Given the description of an element on the screen output the (x, y) to click on. 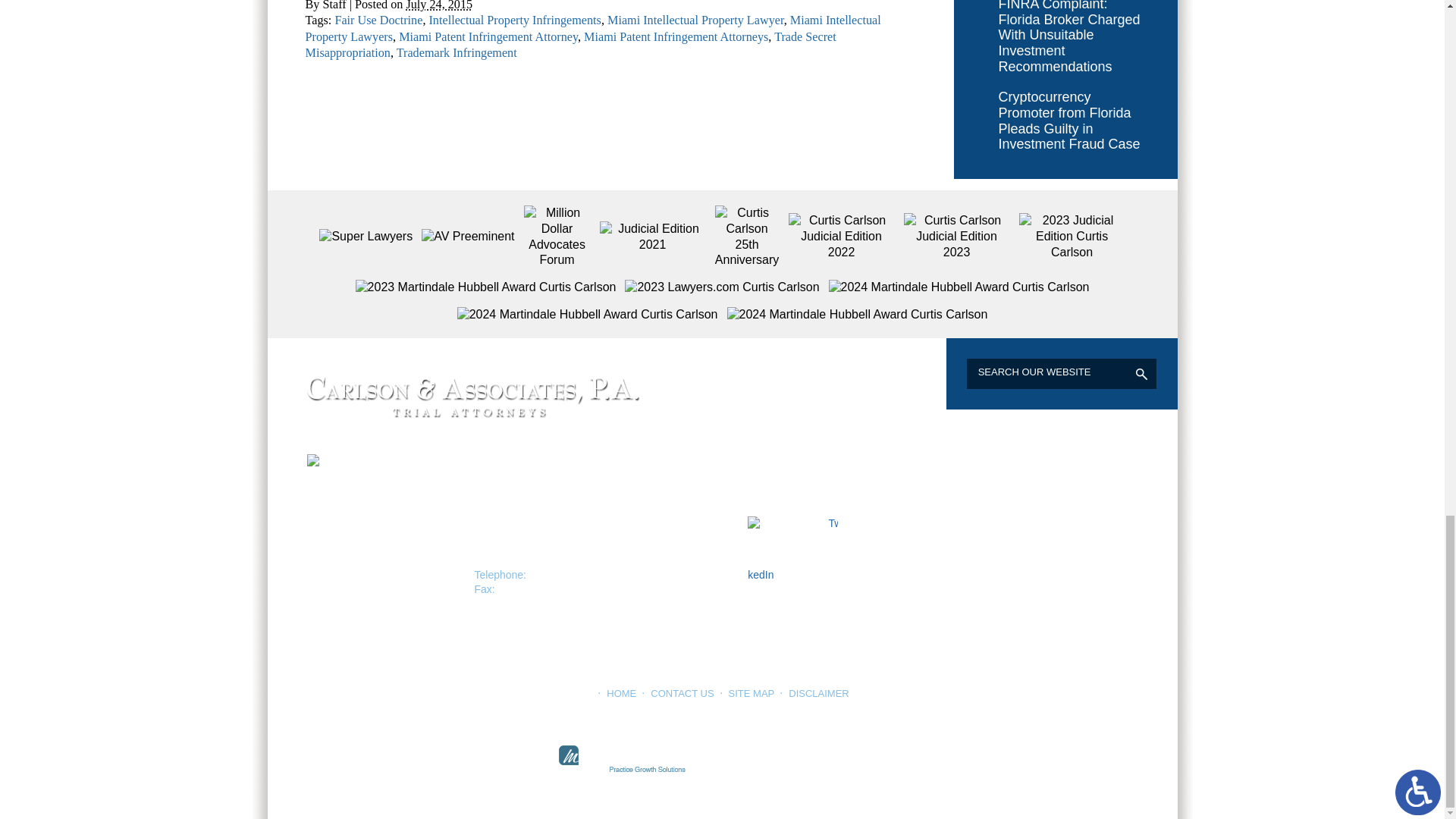
Search Our Website (1035, 385)
2015-07-24T11:45:19-0700 (438, 45)
